Given the description of an element on the screen output the (x, y) to click on. 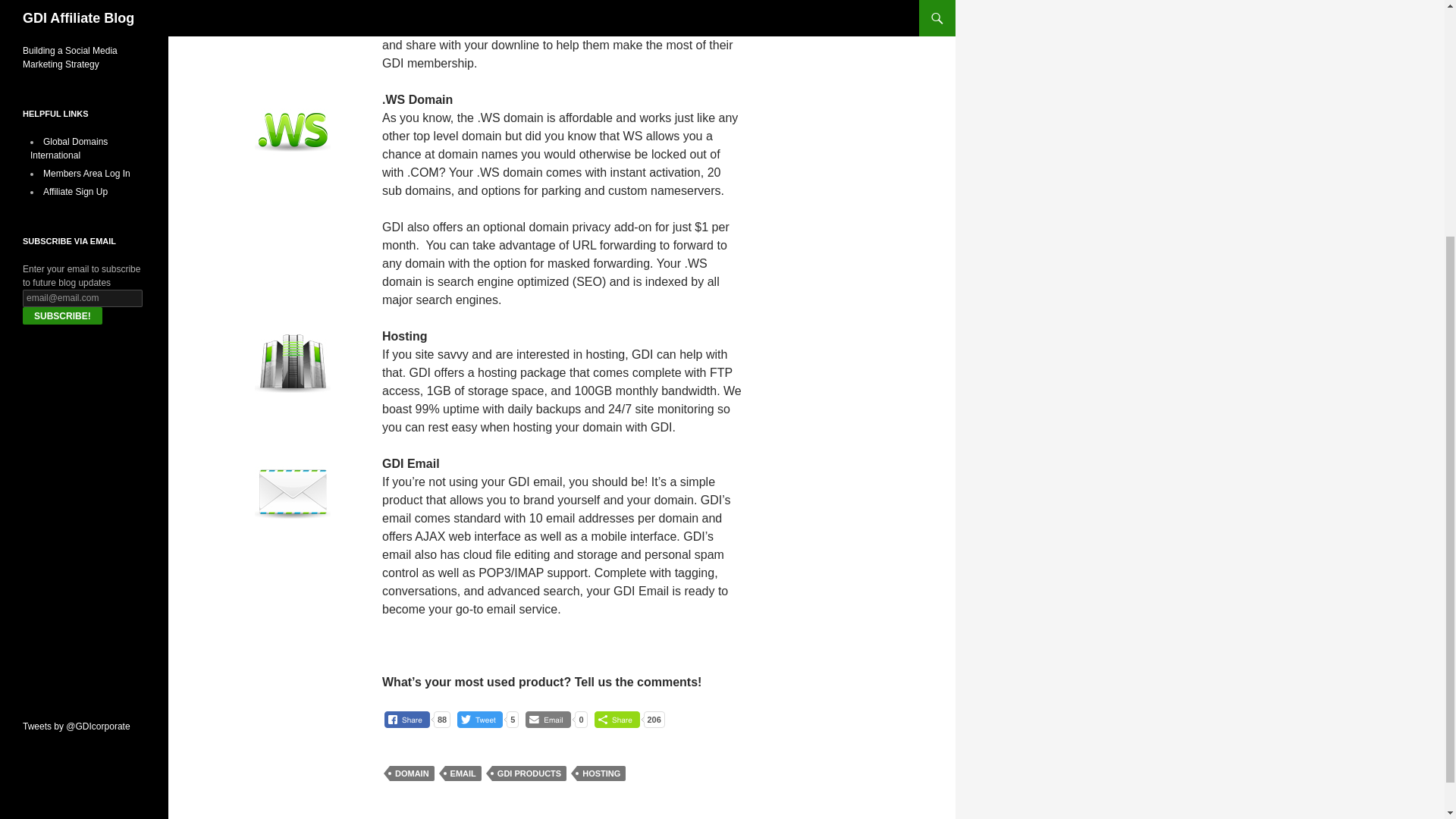
GDI PRODUCTS (529, 773)
Daily Management of Your Facebook Page (76, 2)
5 Examples of Powerful Content (70, 25)
Subscribe! (62, 315)
Affiliate Sign Up (75, 191)
DOMAIN (411, 773)
Members Area Log In (87, 173)
Building a Social Media Marketing Strategy (70, 57)
EMAIL (463, 773)
HOSTING (601, 773)
